Given the description of an element on the screen output the (x, y) to click on. 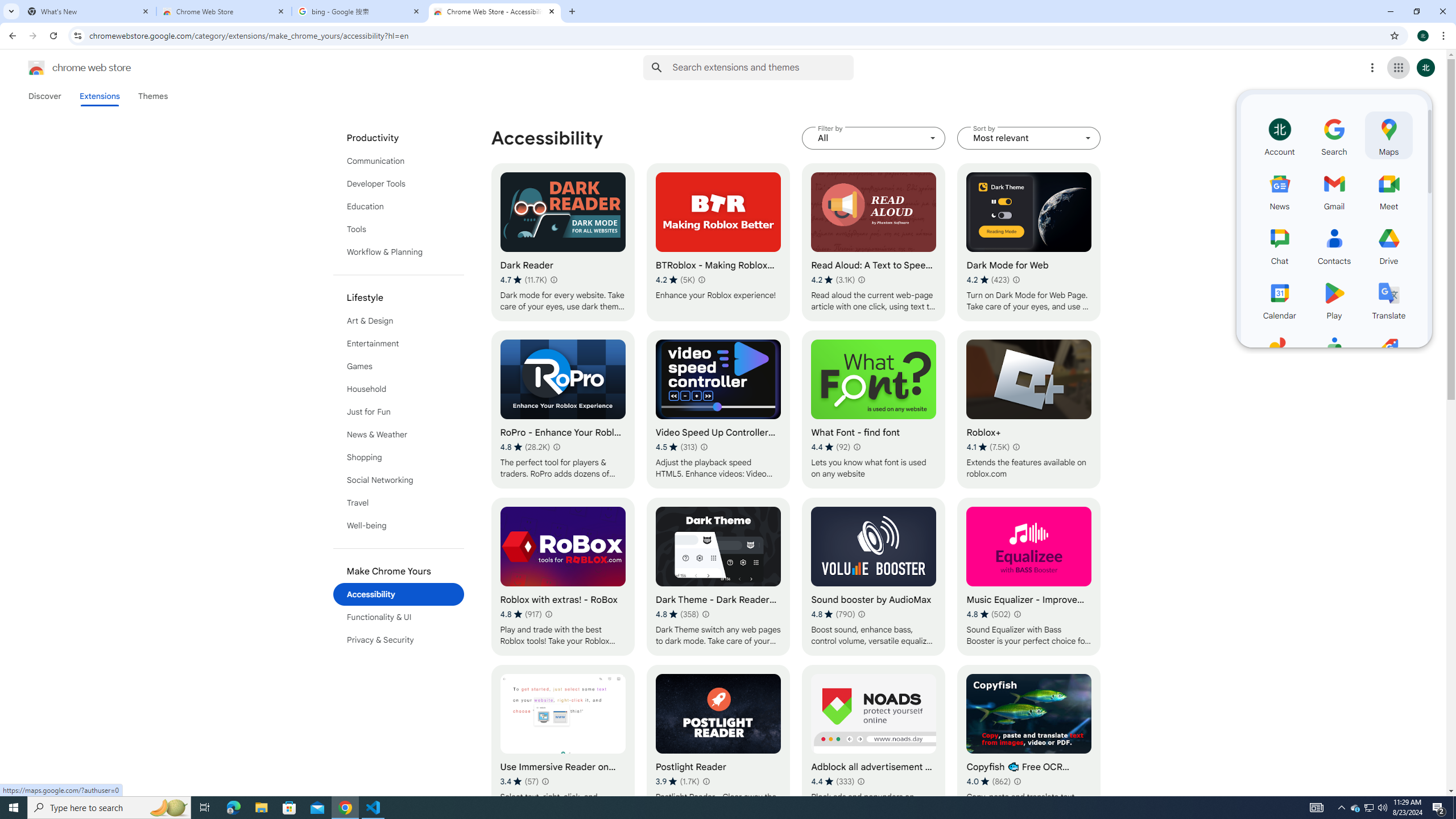
Learn more about results and reviews "Postlight Reader" (705, 780)
Accessibility (selected) (398, 594)
Music Equalizer - Improve Sound for everyone (1028, 576)
Learn more about results and reviews "Dark Mode for Web" (1015, 279)
What's New (88, 11)
Dark Mode for Web (1028, 241)
Workflow & Planning (398, 251)
